Given the description of an element on the screen output the (x, y) to click on. 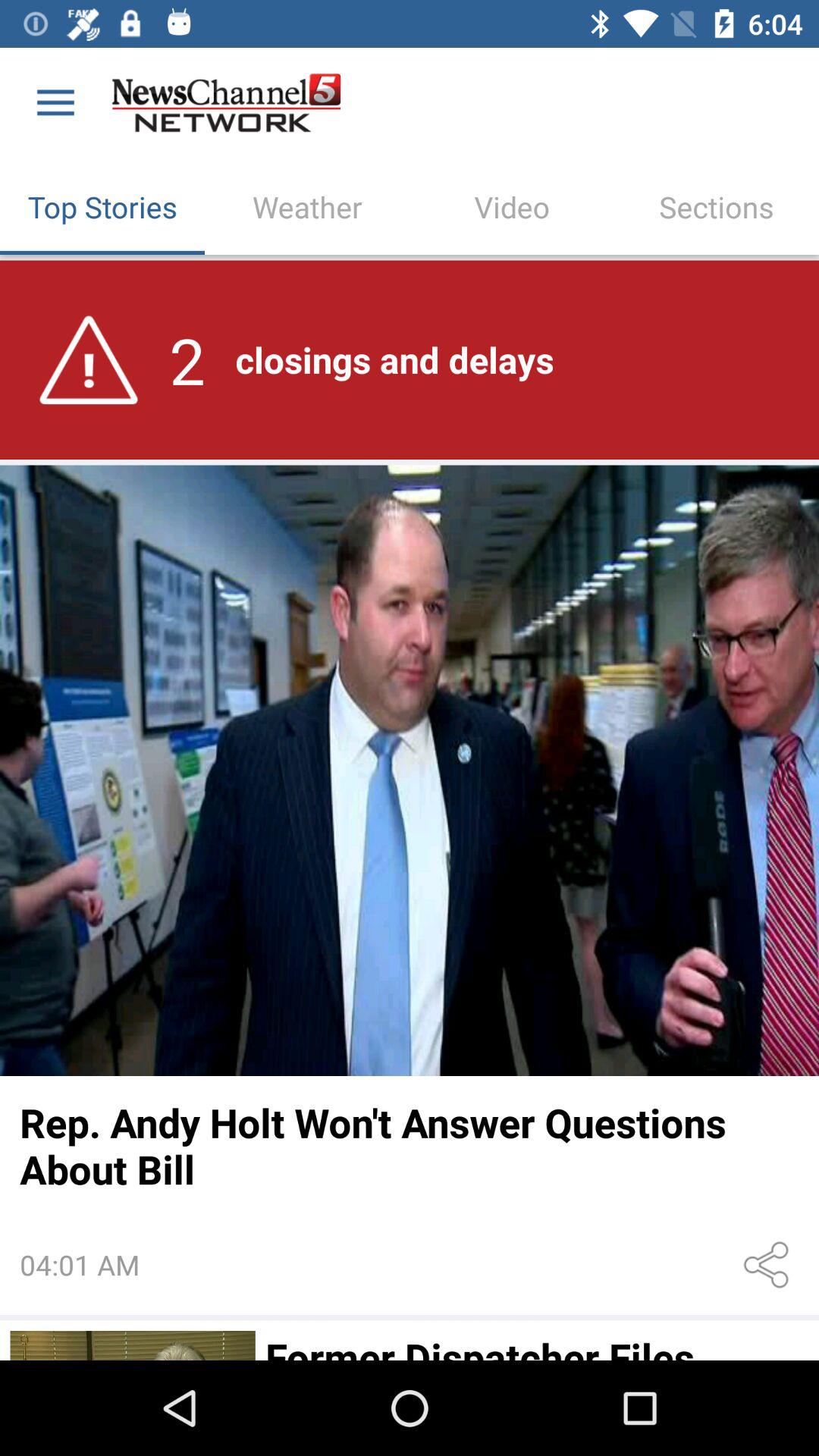
share (769, 1265)
